Given the description of an element on the screen output the (x, y) to click on. 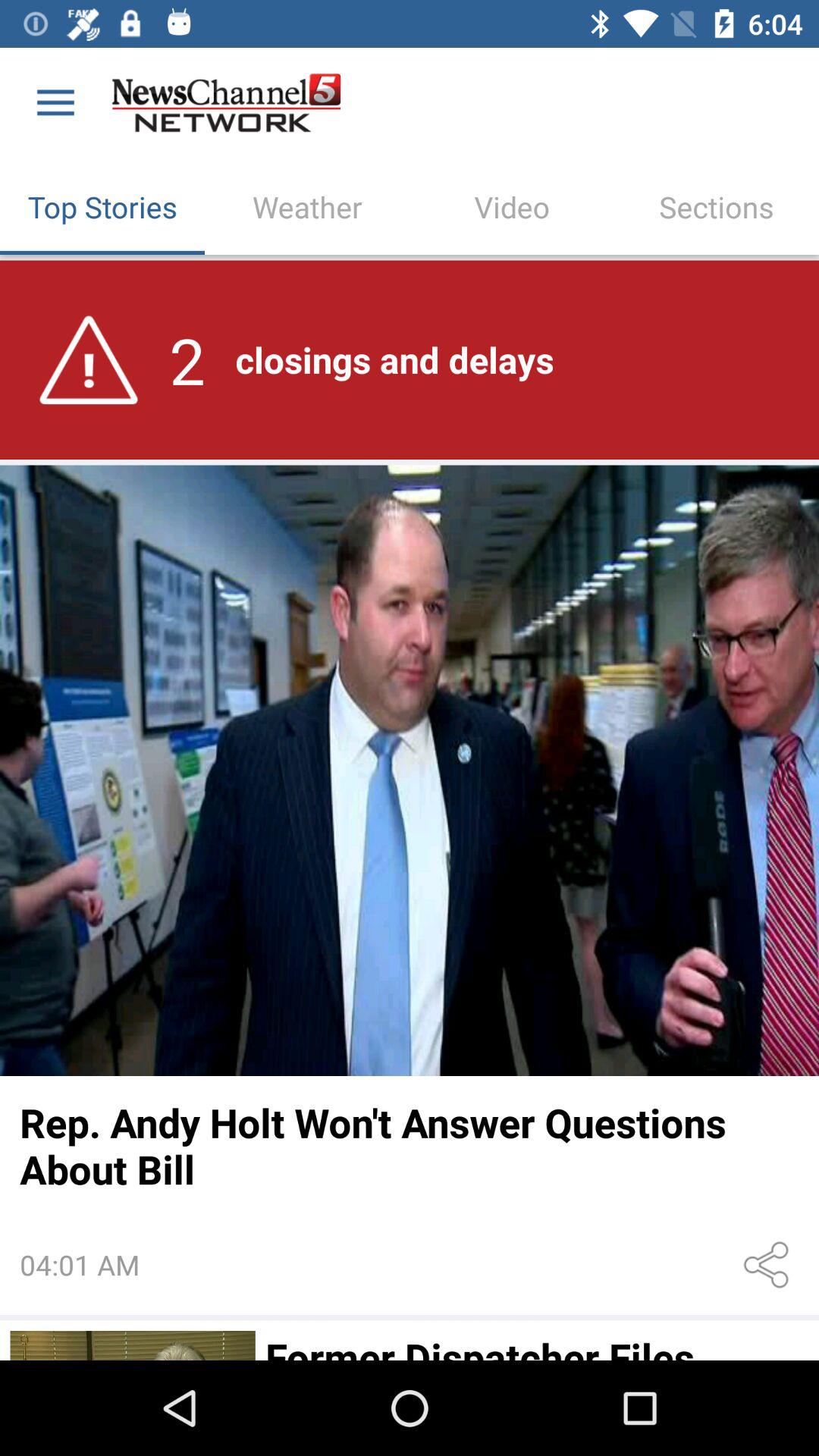
share (769, 1265)
